Given the description of an element on the screen output the (x, y) to click on. 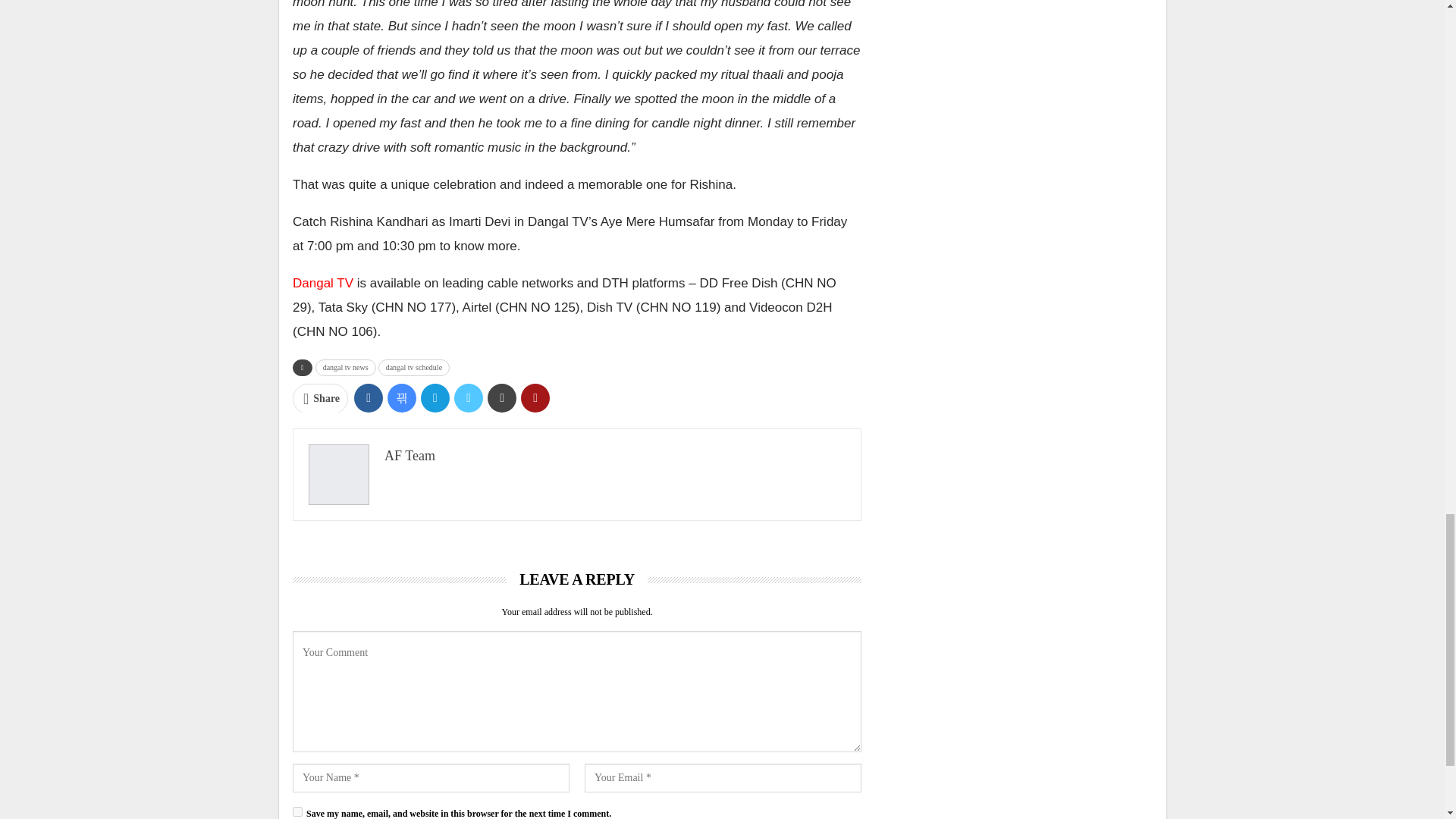
yes (297, 811)
